Given the description of an element on the screen output the (x, y) to click on. 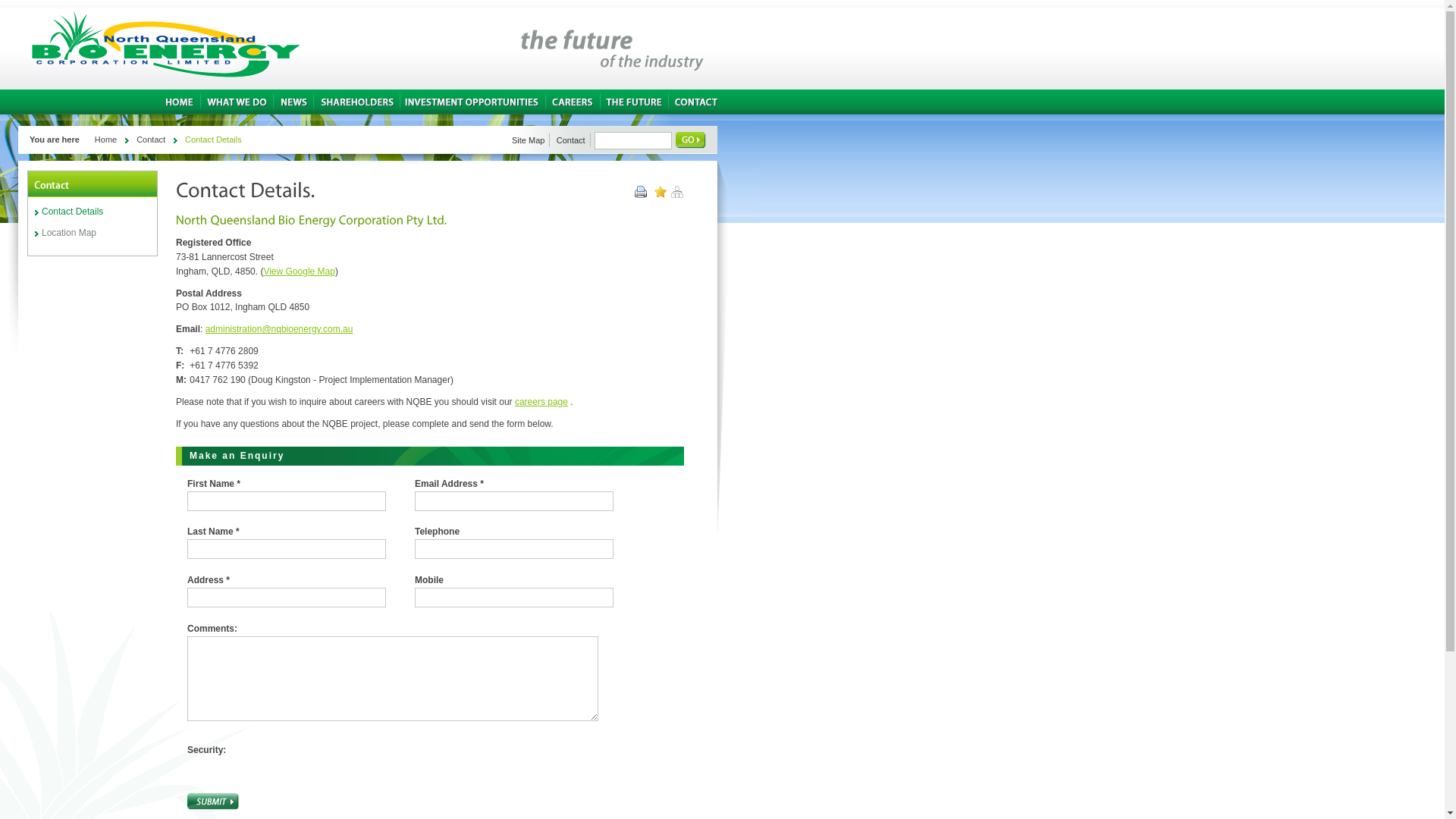
Contact Details Element type: text (92, 211)
Contact Element type: text (571, 140)
Site Map Element type: text (528, 140)
View Sitemap Element type: hover (677, 194)
Location Map Element type: text (92, 232)
administration@nqbioenergy.com.au Element type: text (279, 328)
careers page Element type: text (540, 401)
Contact Element type: text (150, 139)
Home Element type: text (105, 139)
View Google Map Element type: text (299, 271)
